Given the description of an element on the screen output the (x, y) to click on. 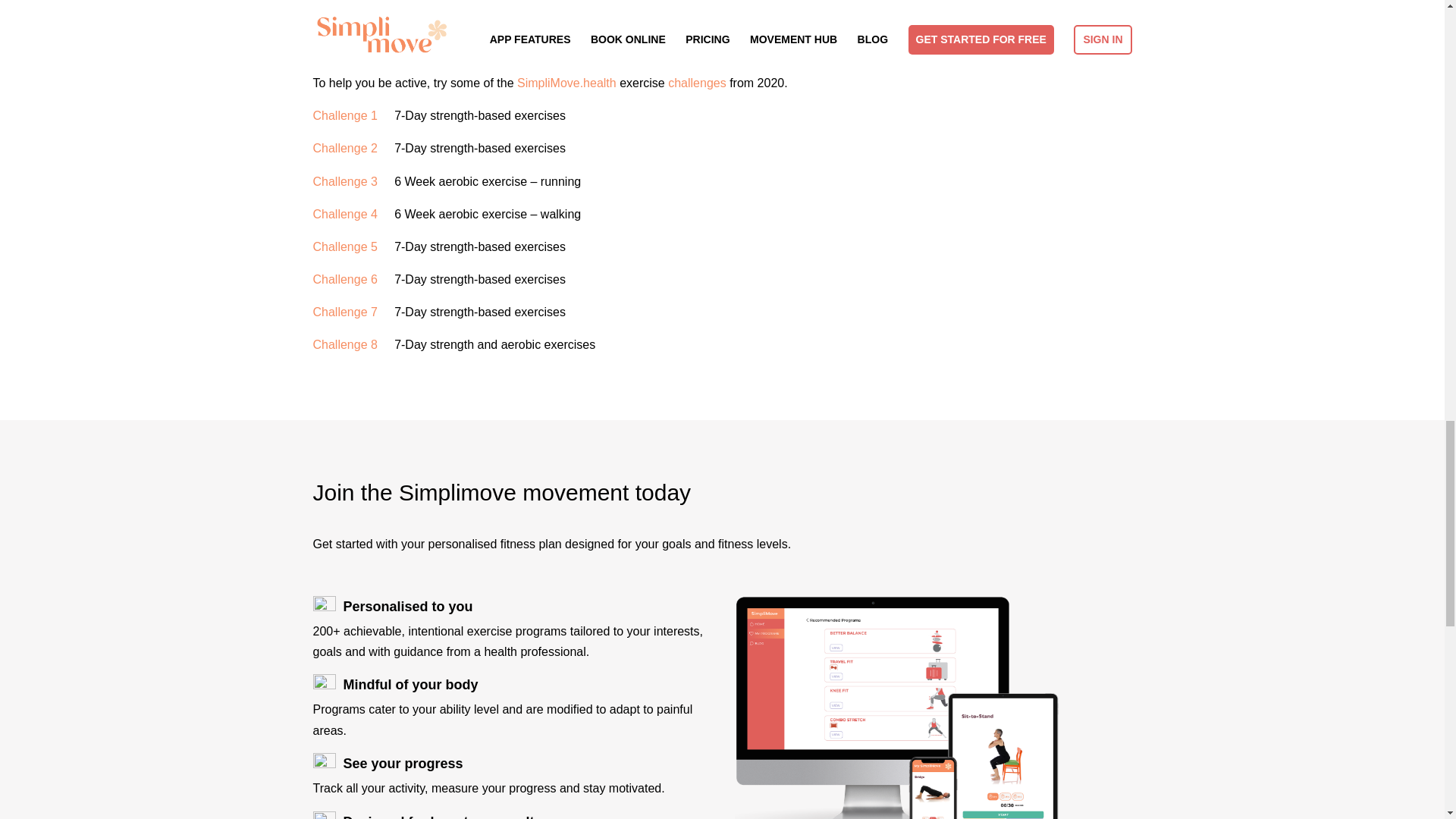
SimpliMove.health (565, 82)
SimpliMove-app-desktop-and-mobile (933, 707)
Challenge 4 (345, 214)
Challenge 6 (345, 278)
Challenge 5 (345, 246)
Challenge 1 (345, 115)
challenges (697, 82)
Challenge 3 (345, 180)
Challenge 2 (345, 147)
Challenge 7 (345, 311)
